Given the description of an element on the screen output the (x, y) to click on. 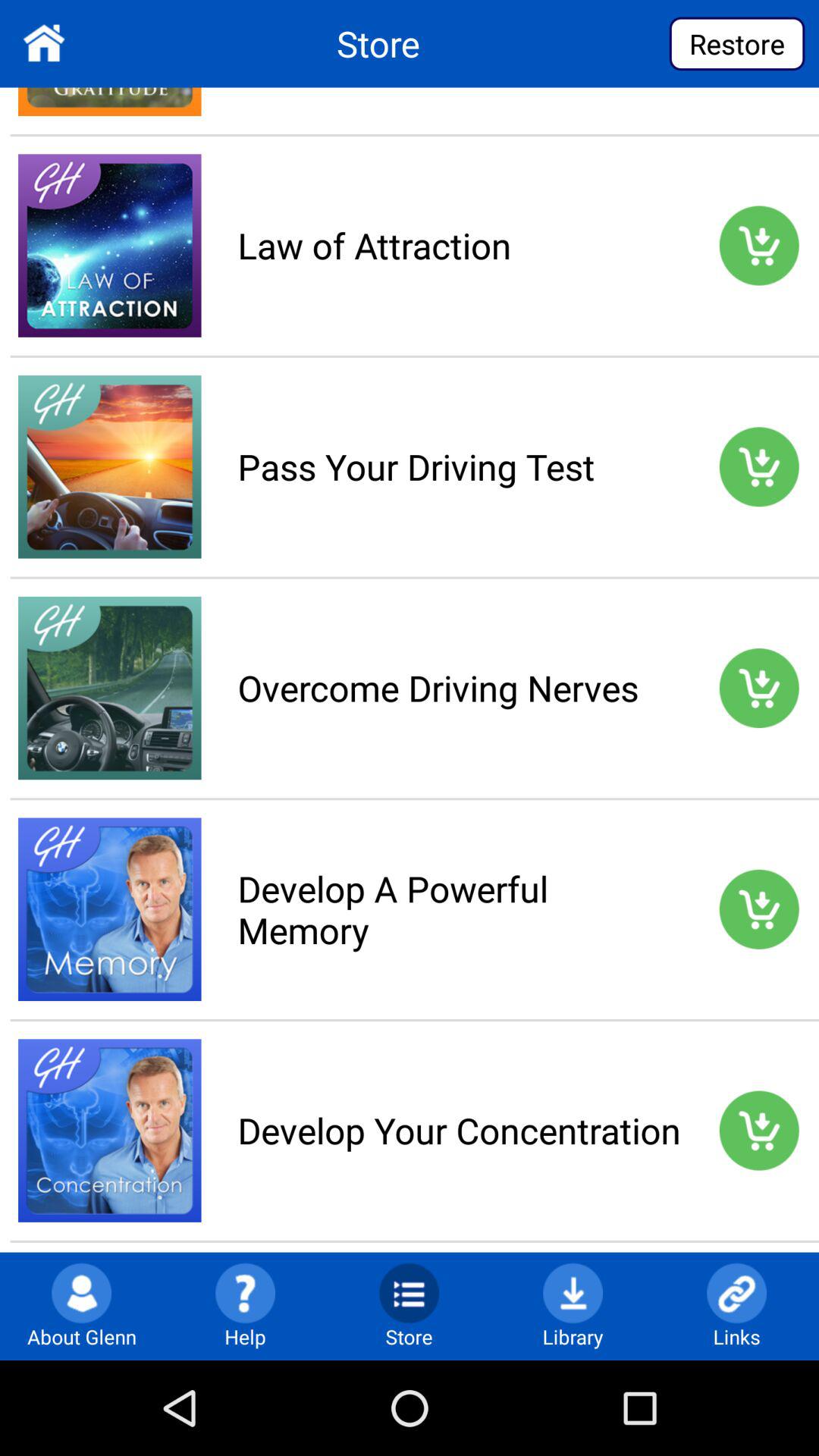
select the law of attraction (459, 245)
